Given the description of an element on the screen output the (x, y) to click on. 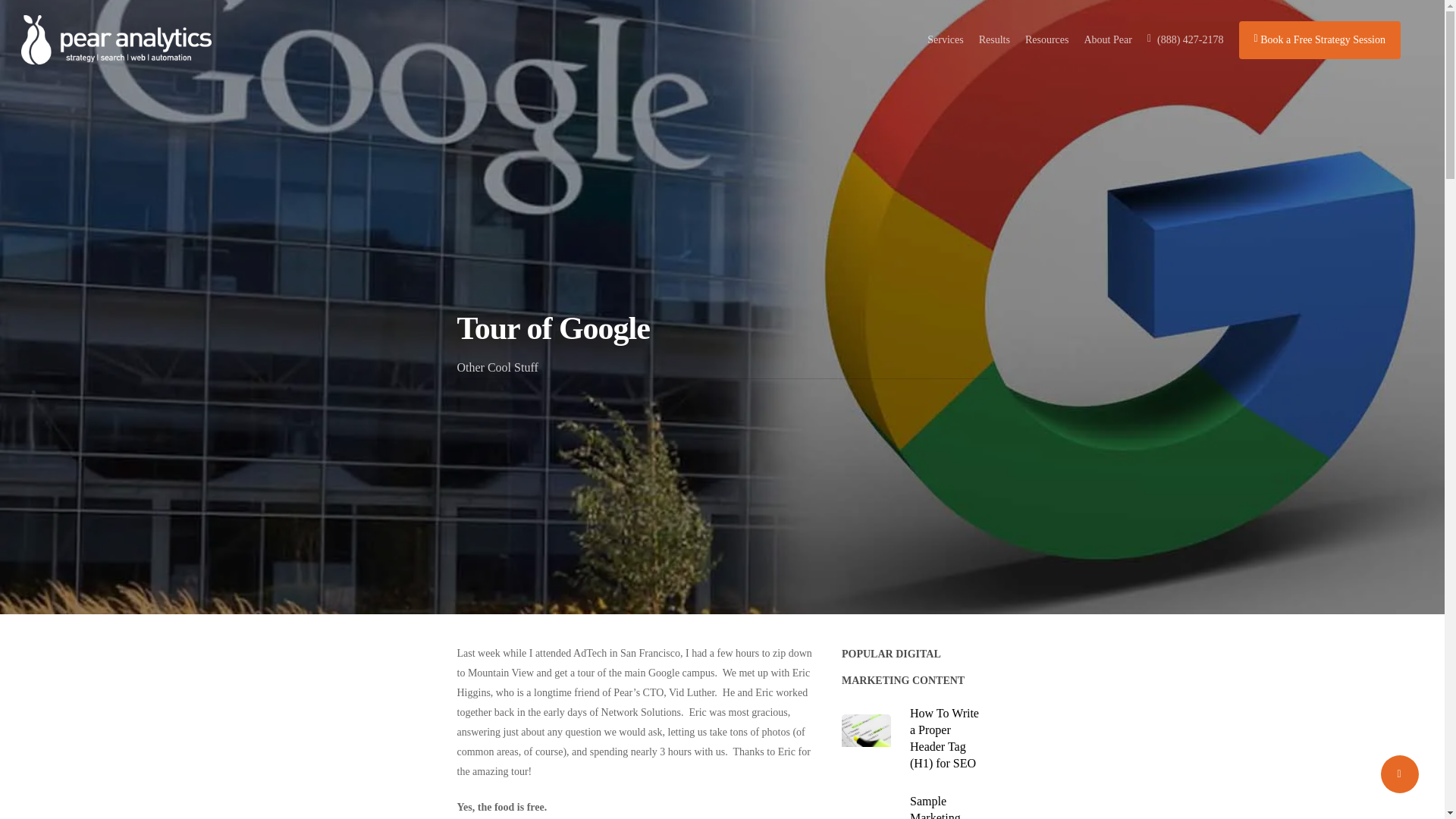
Other Cool Stuff (497, 367)
Results (994, 38)
Services (945, 38)
Book a Free Strategy Session (1319, 38)
Resources (1047, 38)
About Pear (1106, 38)
